Given the description of an element on the screen output the (x, y) to click on. 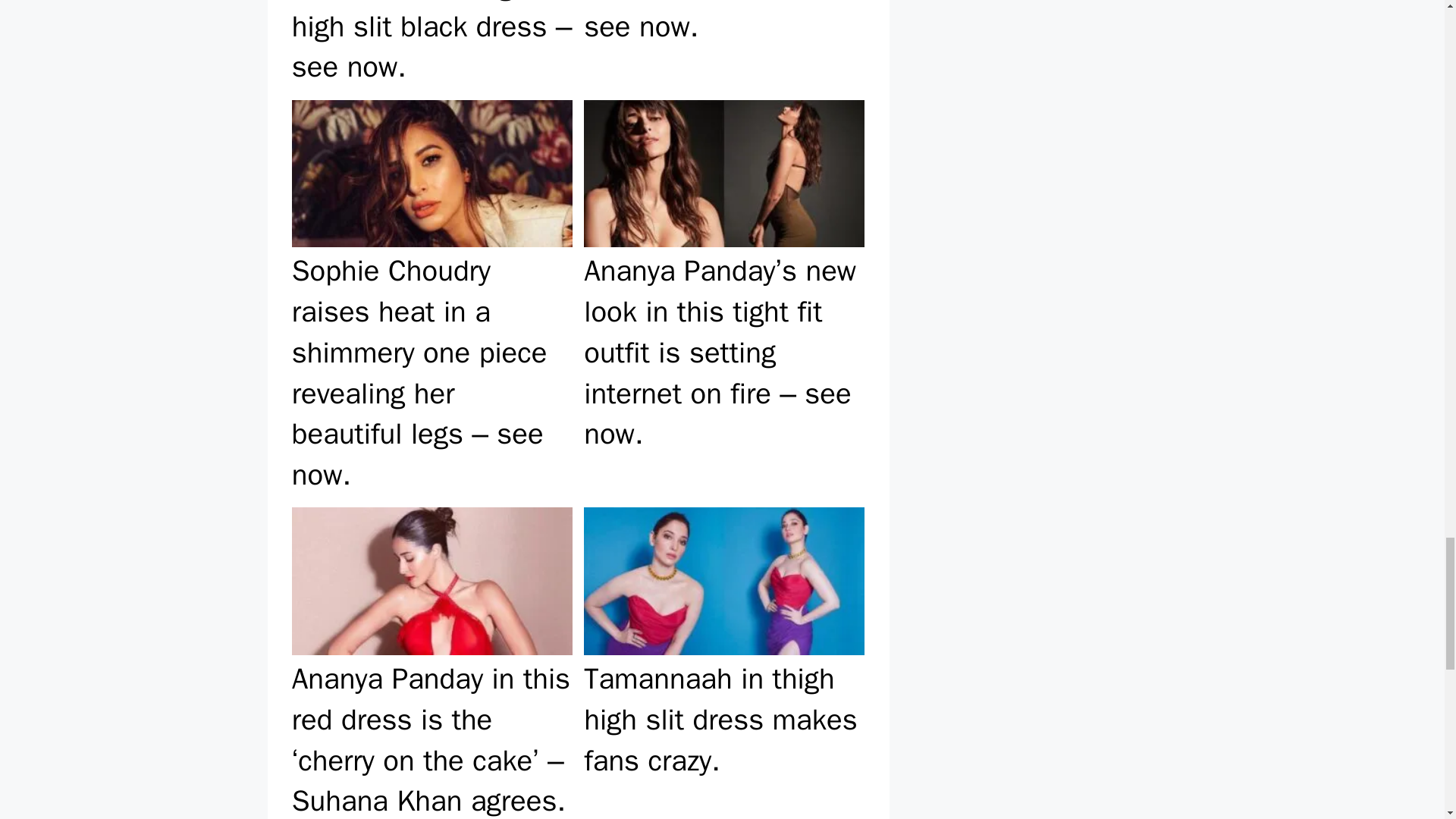
Tamannaah in thigh high slit dress makes fans crazy. (723, 660)
